Given the description of an element on the screen output the (x, y) to click on. 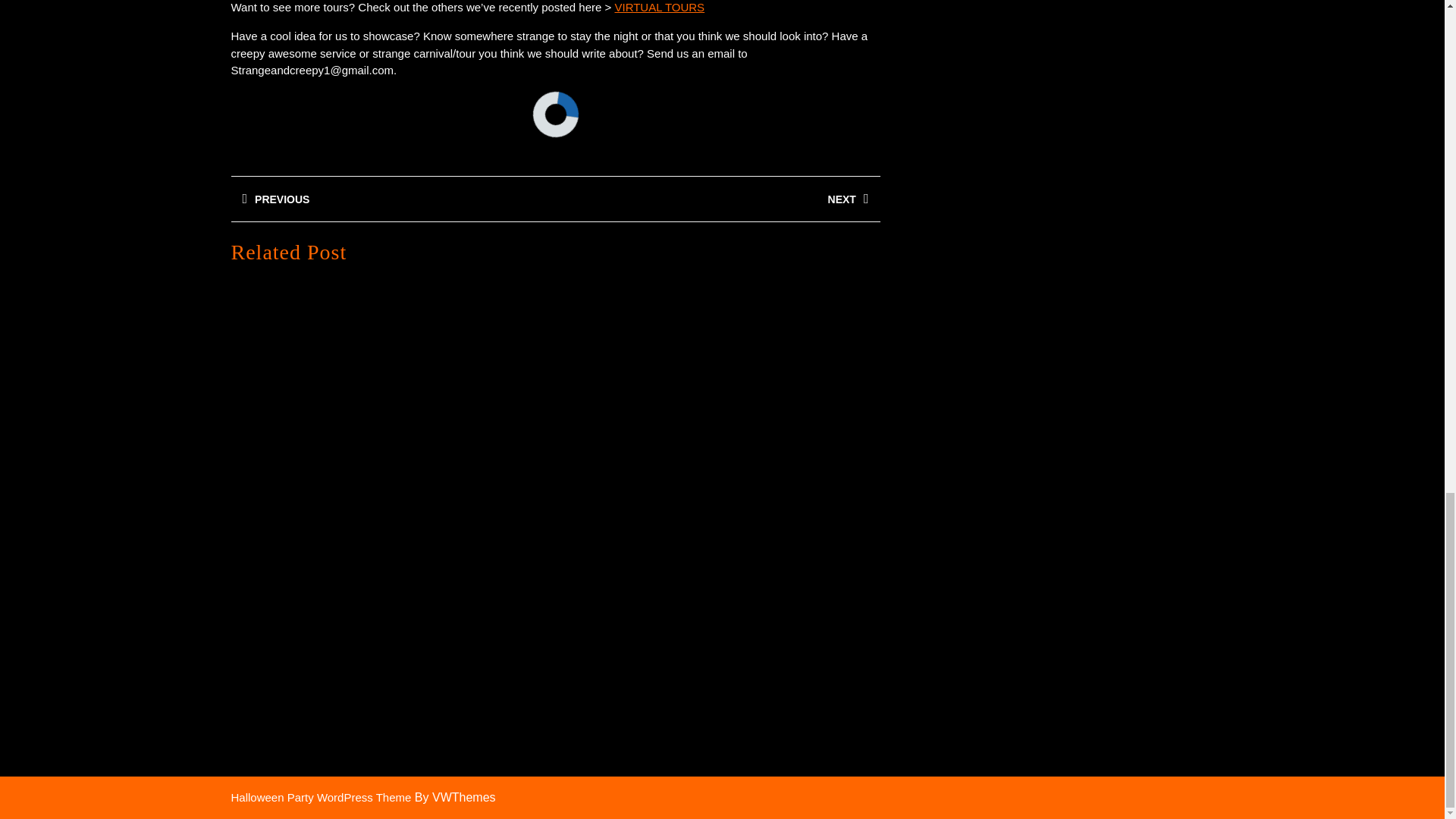
VIRTUAL TOURS (716, 198)
Halloween Party WordPress Theme (392, 198)
